Given the description of an element on the screen output the (x, y) to click on. 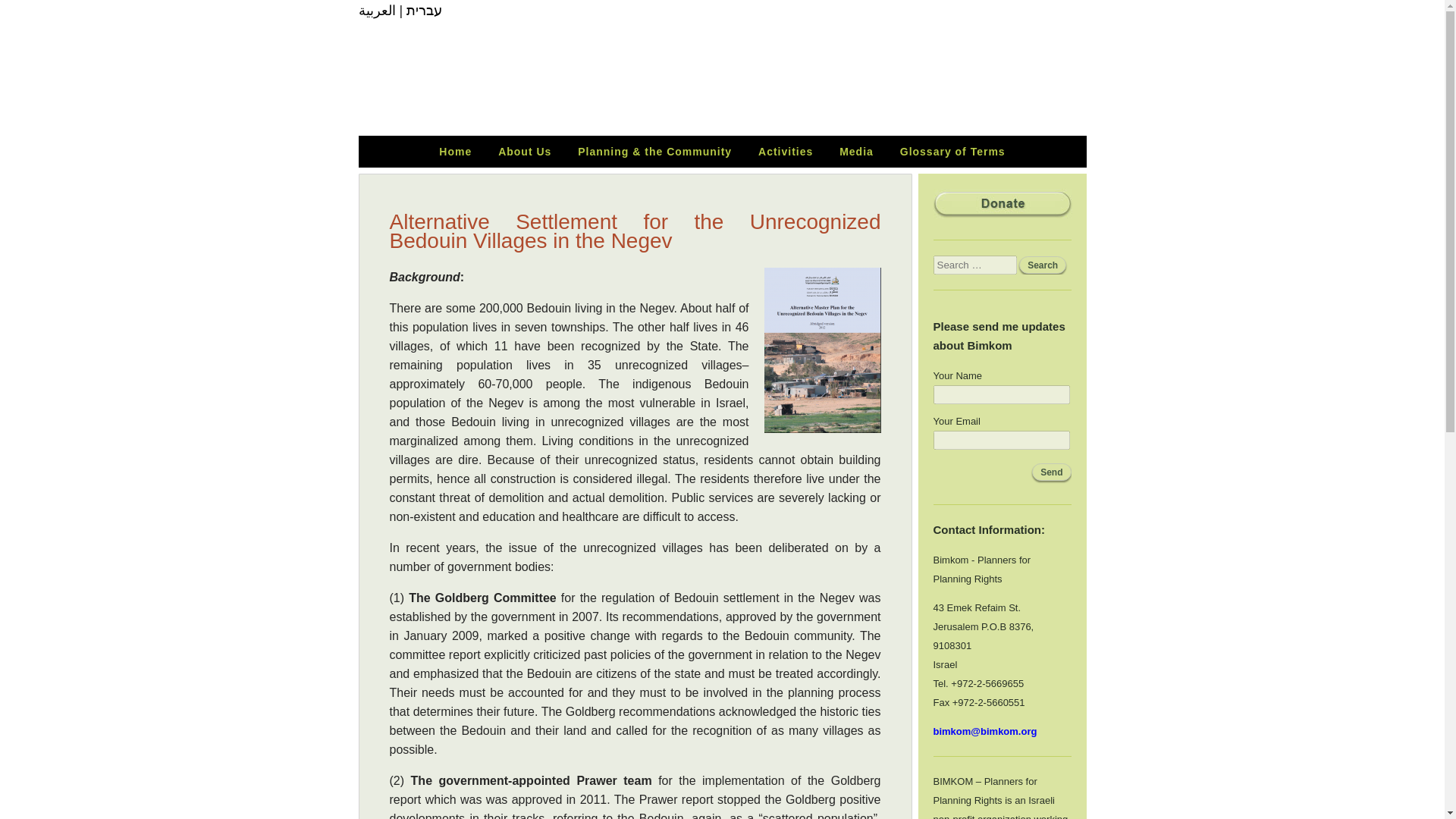
Bimkom.org (1016, 76)
Send (1051, 471)
About Us (524, 151)
Glossary of Terms (952, 151)
Home (455, 151)
Send (1051, 471)
Activities (785, 151)
Media (856, 151)
Search (1042, 264)
Search (1042, 264)
